Given the description of an element on the screen output the (x, y) to click on. 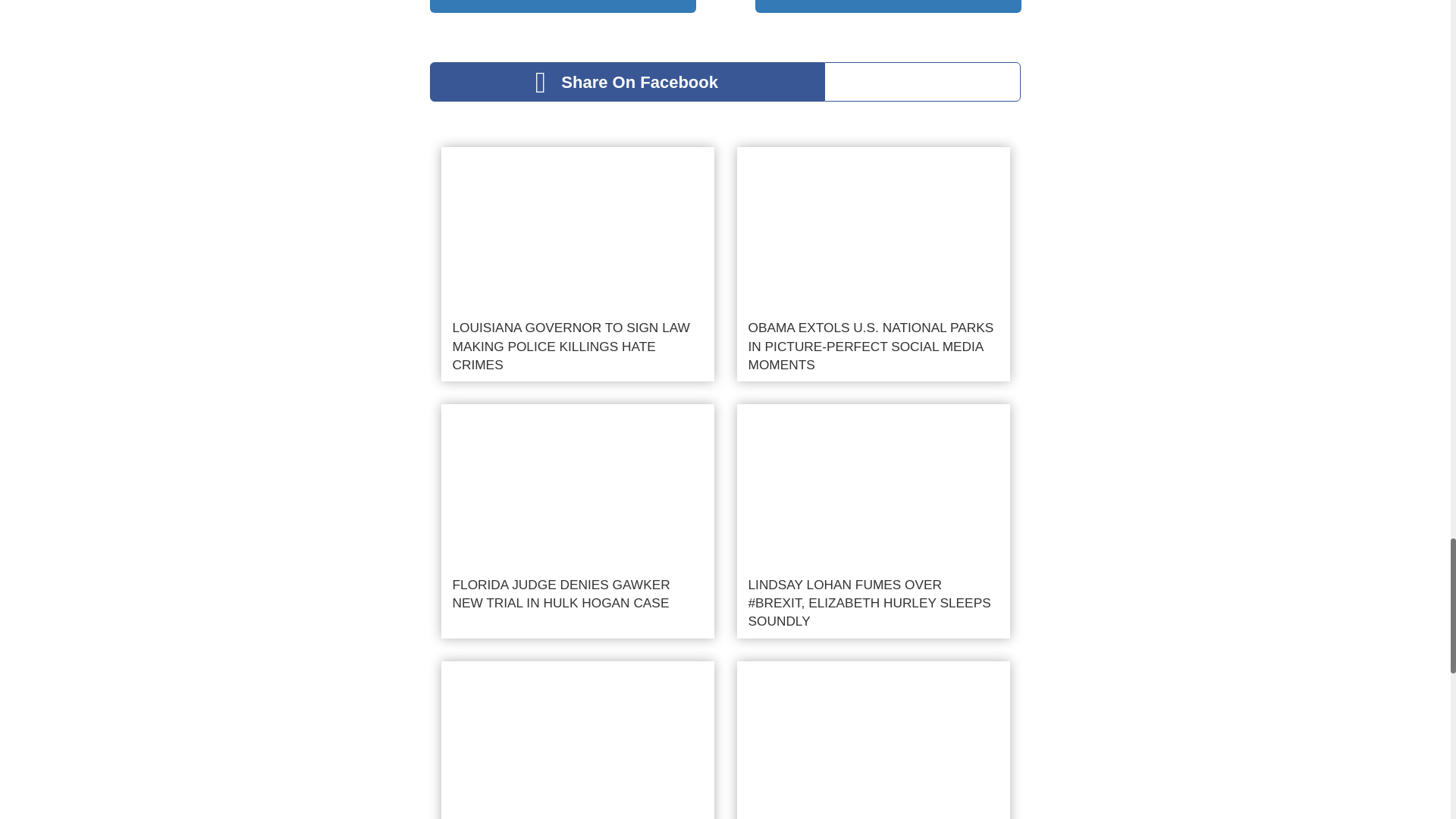
FLORIDA JUDGE DENIES GAWKER NEW TRIAL IN HULK HOGAN CASE (577, 521)
BLACK BEAR TERRIFIES FAMILY BY BREAKING INTO THEIR CAR (577, 739)
